Given the description of an element on the screen output the (x, y) to click on. 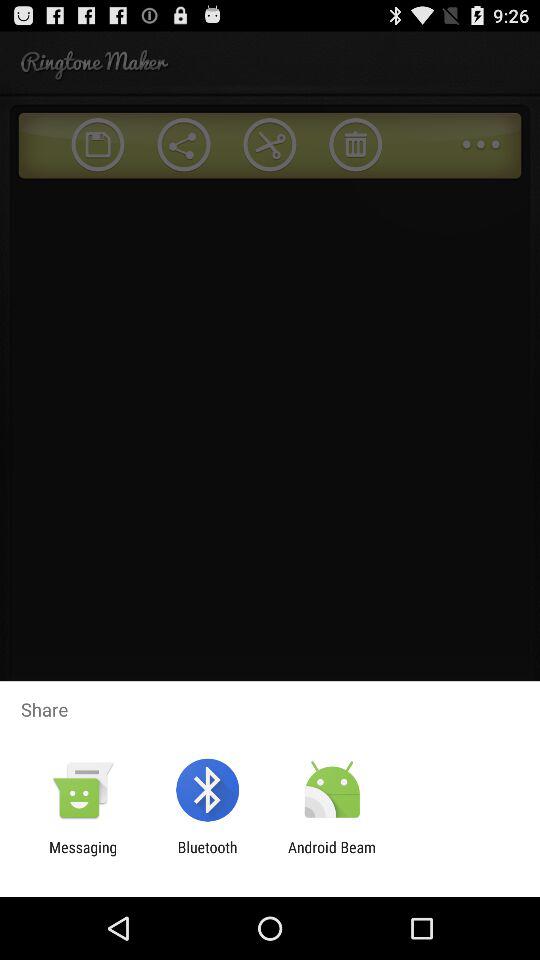
launch messaging item (83, 856)
